Given the description of an element on the screen output the (x, y) to click on. 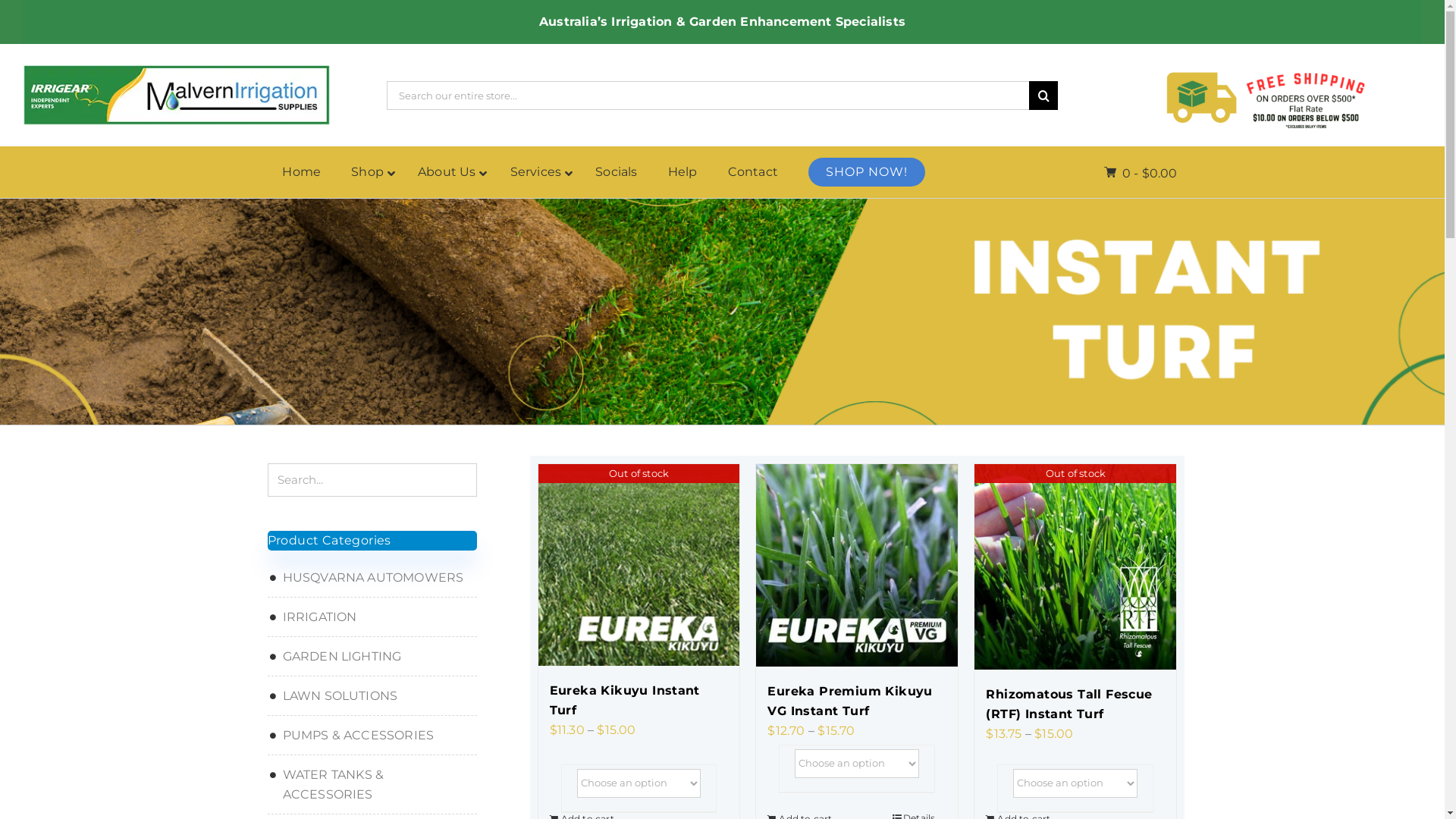
GARDEN LIGHTING Element type: text (371, 656)
Out of stock Element type: text (639, 564)
Shop Element type: text (368, 172)
SHOP NOW! Element type: text (866, 171)
PUMPS & ACCESSORIES Element type: text (371, 735)
Services Element type: text (537, 172)
Out of stock Element type: text (1075, 566)
HUSQVARNA AUTOMOWERS Element type: text (371, 577)
Aesthetic Twitter Header Element type: hover (1267, 94)
Socials Element type: text (616, 172)
IRRIGATION Element type: text (371, 617)
Eureka Premium Kikuyu VG Instant Turf Element type: text (856, 701)
LAWN SOLUTIONS Element type: text (371, 695)
Contact Element type: text (752, 172)
About Us Element type: text (448, 172)
Rhizomatous Tall Fescue (RTF) Instant Turf Element type: text (1074, 704)
WATER TANKS & ACCESSORIES Element type: text (371, 784)
Help Element type: text (682, 172)
Eureka Kikuyu Instant Turf Element type: text (638, 700)
Home Element type: text (300, 172)
0 - $0.00 Element type: text (1140, 173)
